Given the description of an element on the screen output the (x, y) to click on. 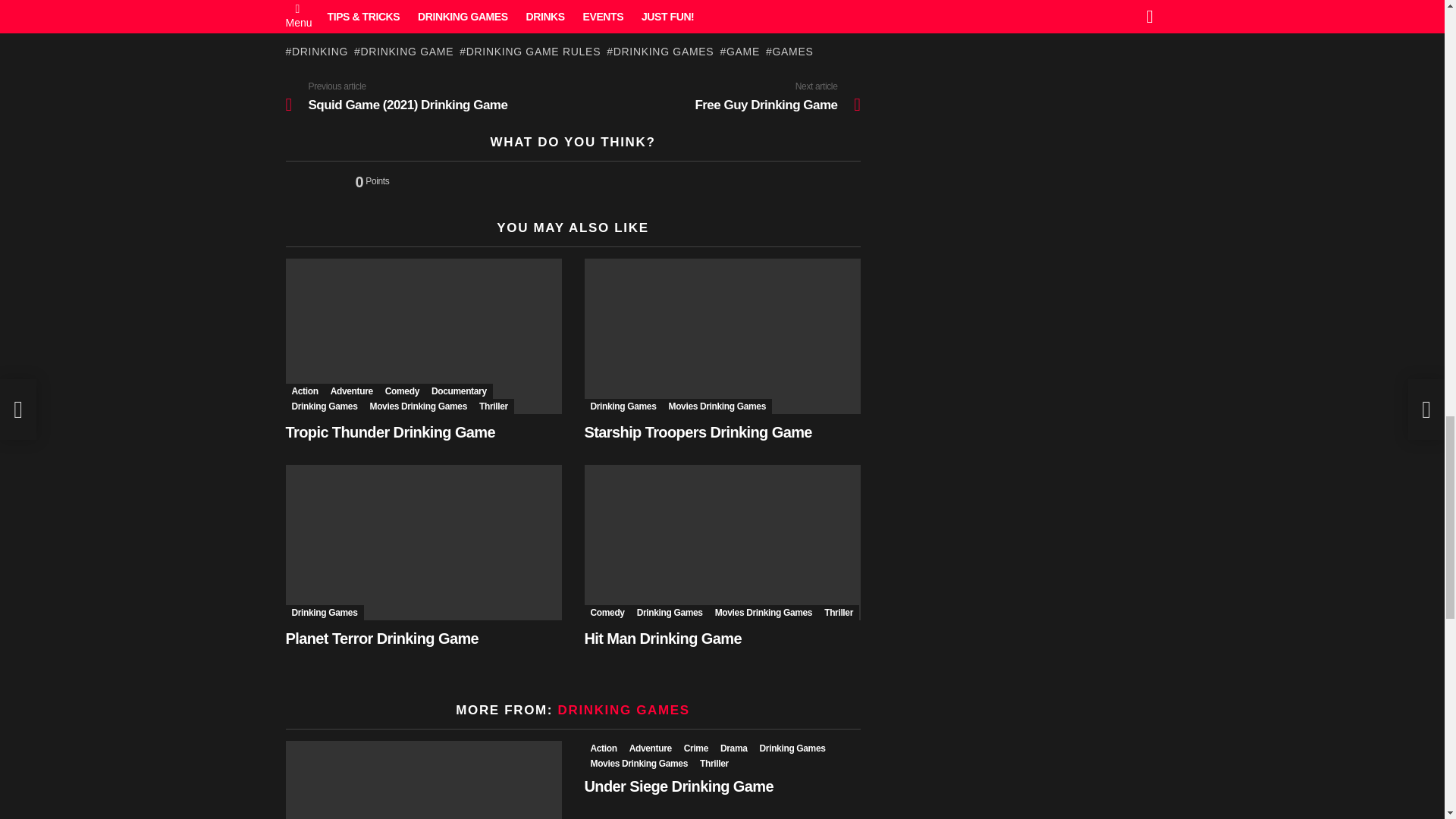
DRINKING GAMES (660, 51)
Hit Man Drinking Game (721, 542)
Planet Terror Drinking Game (422, 542)
DRINKING (316, 51)
DRINKING GAME (402, 51)
Starship Troopers Drinking Game (721, 336)
DRINKING GAME RULES (529, 51)
Under Siege Drinking Game (422, 780)
Tropic Thunder Drinking Game (422, 336)
